Given the description of an element on the screen output the (x, y) to click on. 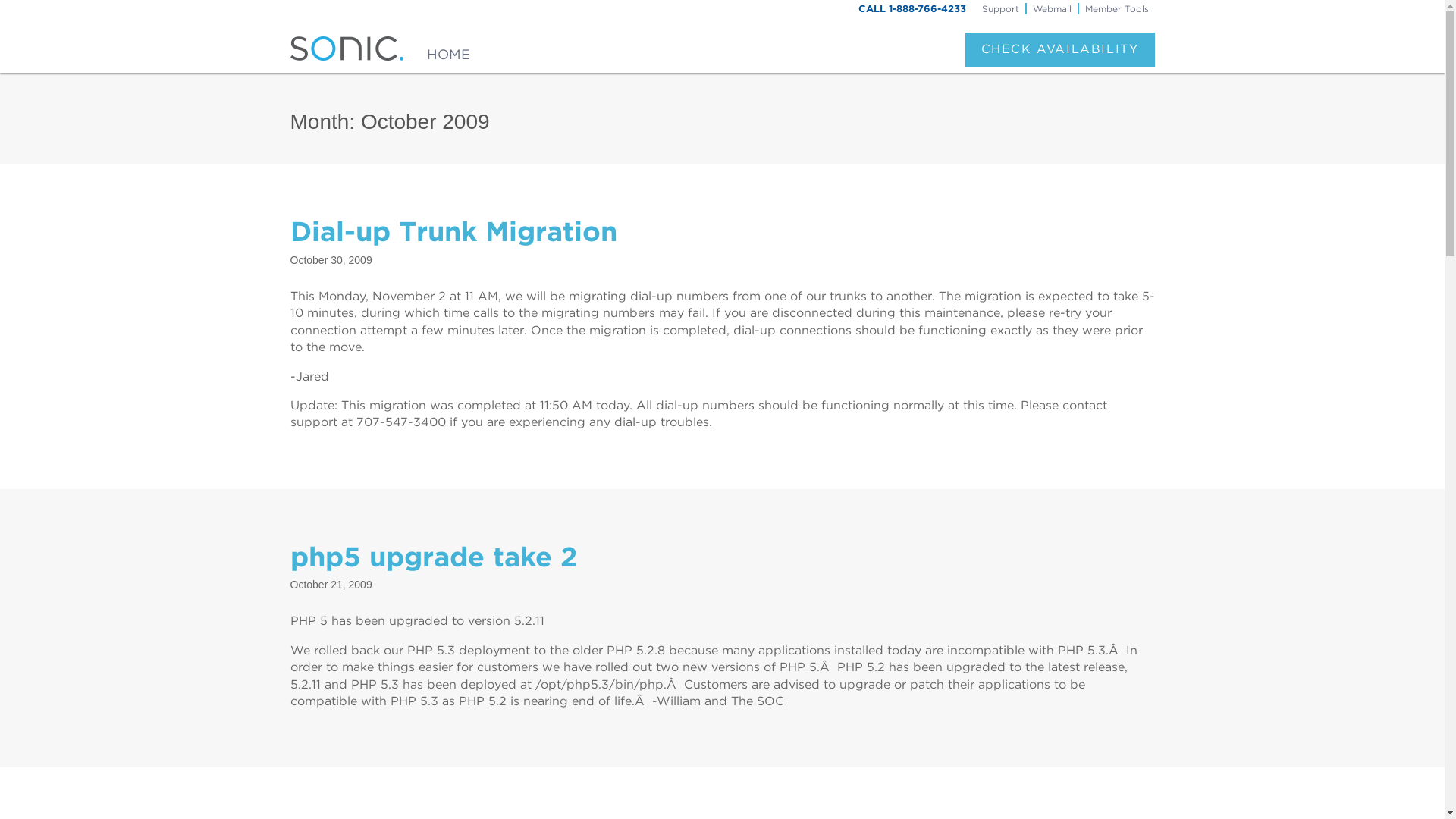
php5 upgrade take 2 (432, 556)
October 21, 2009 (330, 584)
Dial-up Trunk Migration (452, 231)
October 30, 2009 (330, 259)
Go to Sonic.com (447, 48)
CALL 1-888-766-4233 (912, 8)
CHECK AVAILABILITY (1059, 49)
Webmail (1051, 8)
HOME (447, 48)
Support (1000, 8)
Member Tools (1116, 8)
